Given the description of an element on the screen output the (x, y) to click on. 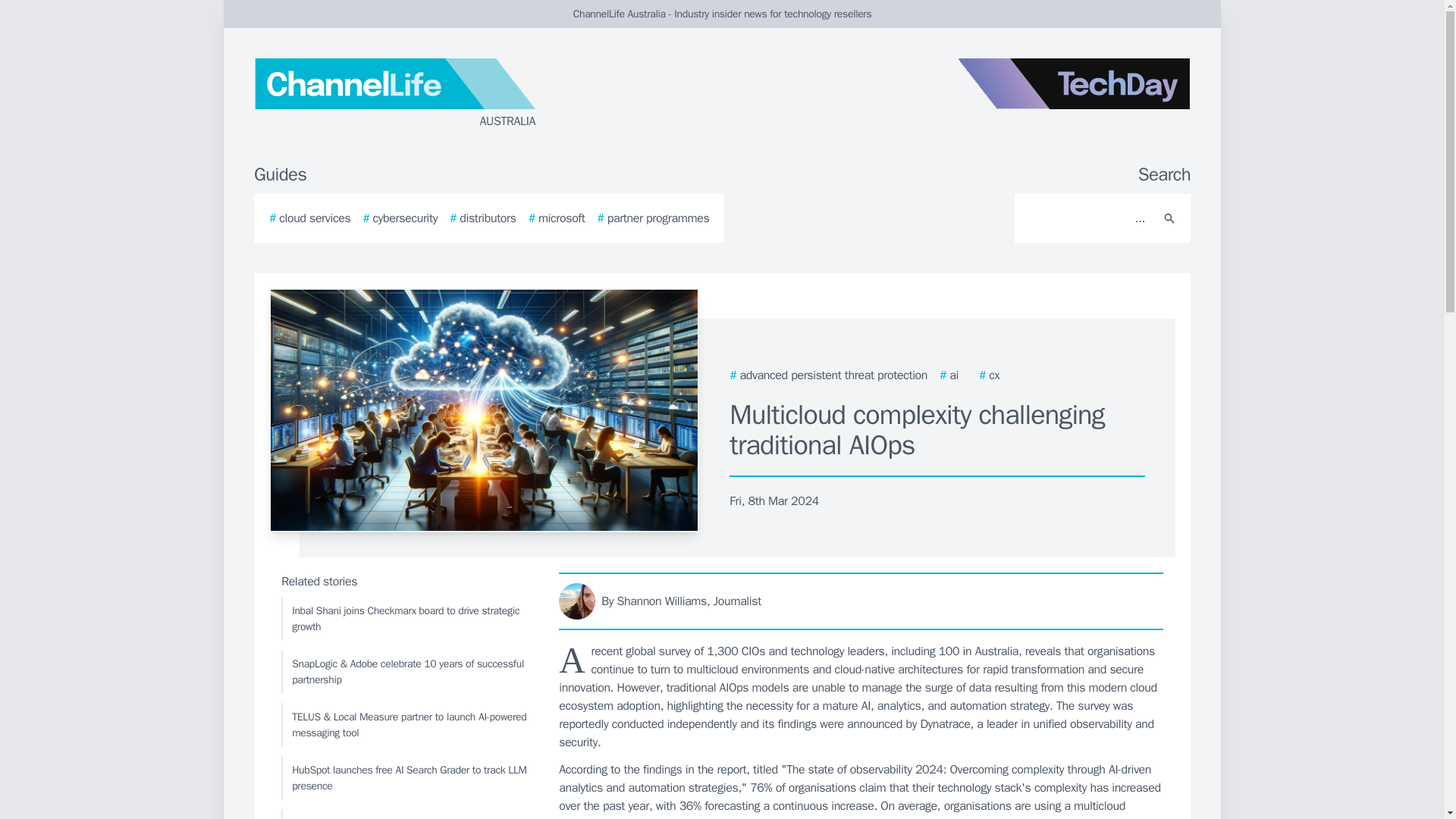
By Shannon Williams, Journalist (861, 601)
HubSpot launches free AI Search Grader to track LLM presence (406, 777)
AUSTRALIA (435, 94)
Inbal Shani joins Checkmarx board to drive strategic growth (406, 618)
